Given the description of an element on the screen output the (x, y) to click on. 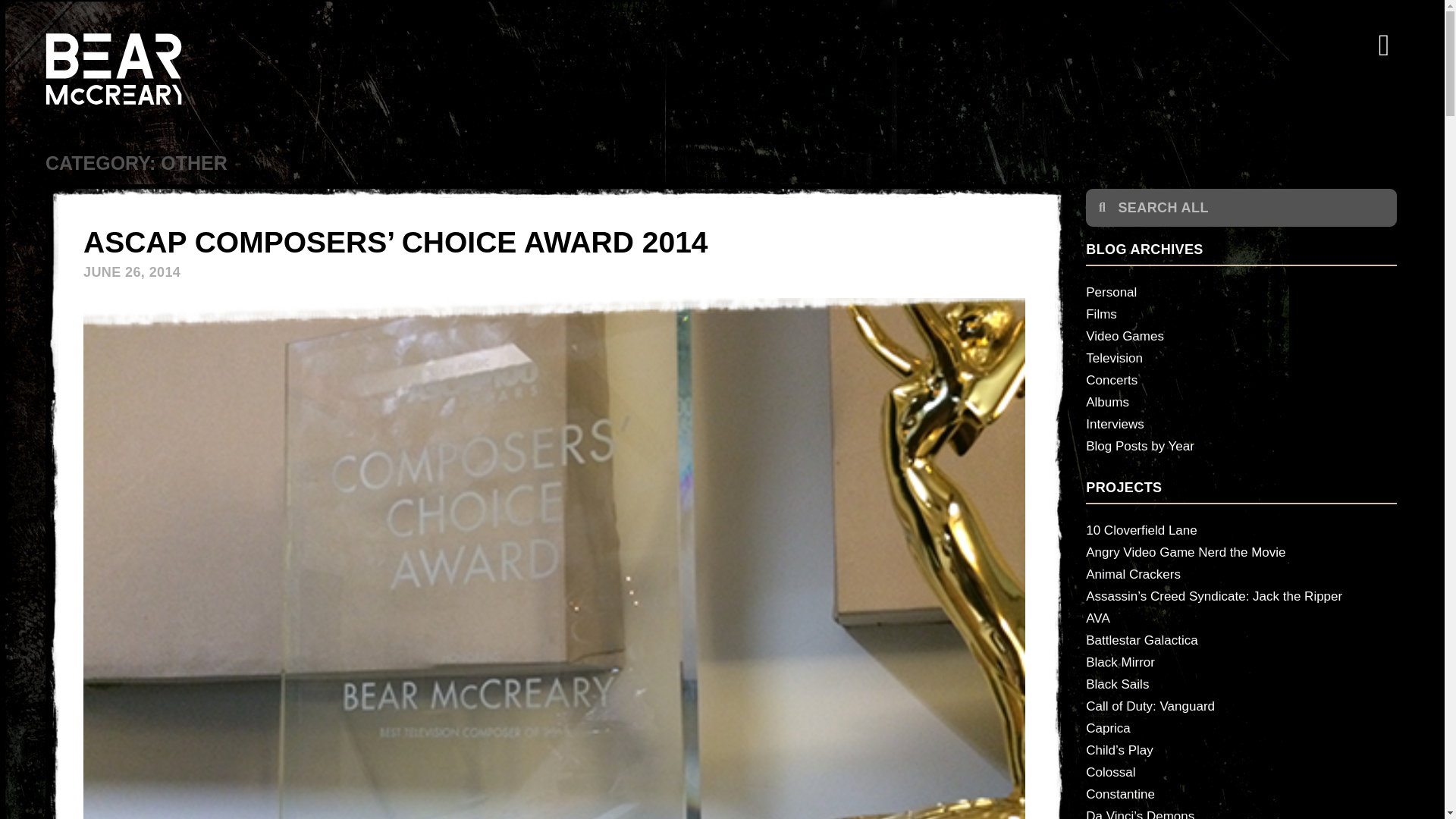
Video Games (1241, 336)
Albums (1241, 402)
Blog Posts by Year (1241, 445)
Films (1241, 314)
Interviews (1241, 423)
Personal (1241, 292)
Concerts (1241, 380)
Television (1241, 358)
